Given the description of an element on the screen output the (x, y) to click on. 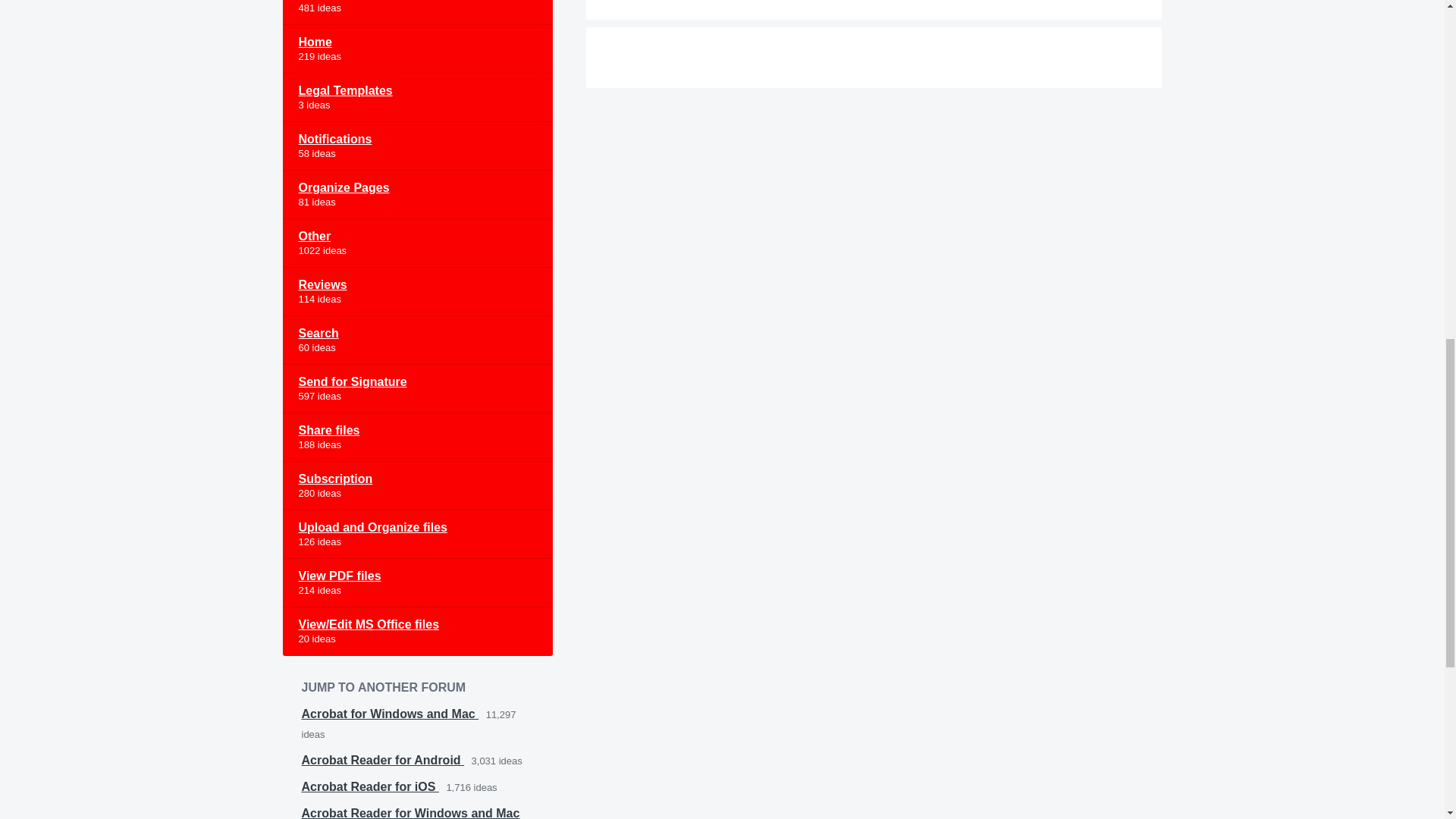
View all ideas in category Notifications (417, 146)
Share files (417, 437)
View all ideas in category Other (417, 243)
Reviews (417, 291)
View all ideas in category Search (417, 340)
View all ideas in category Send for Signature (417, 388)
Acrobat Reader for iOS (370, 786)
Legal Templates (417, 97)
Acrobat Reader for Android (382, 759)
Acrobat for Windows and Mac (390, 713)
